Given the description of an element on the screen output the (x, y) to click on. 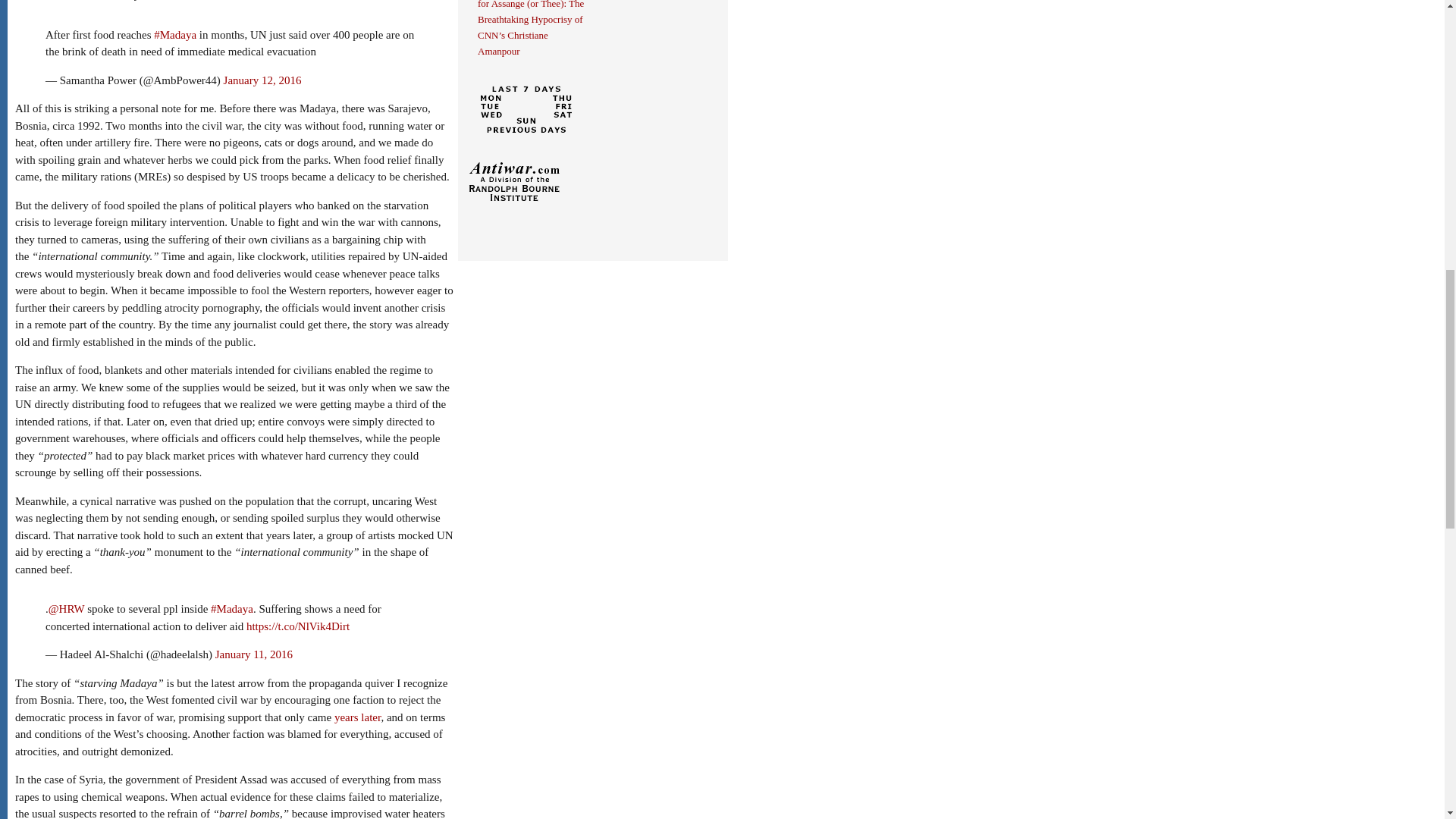
years later (357, 717)
January 12, 2016 (262, 80)
January 11, 2016 (253, 654)
